Given the description of an element on the screen output the (x, y) to click on. 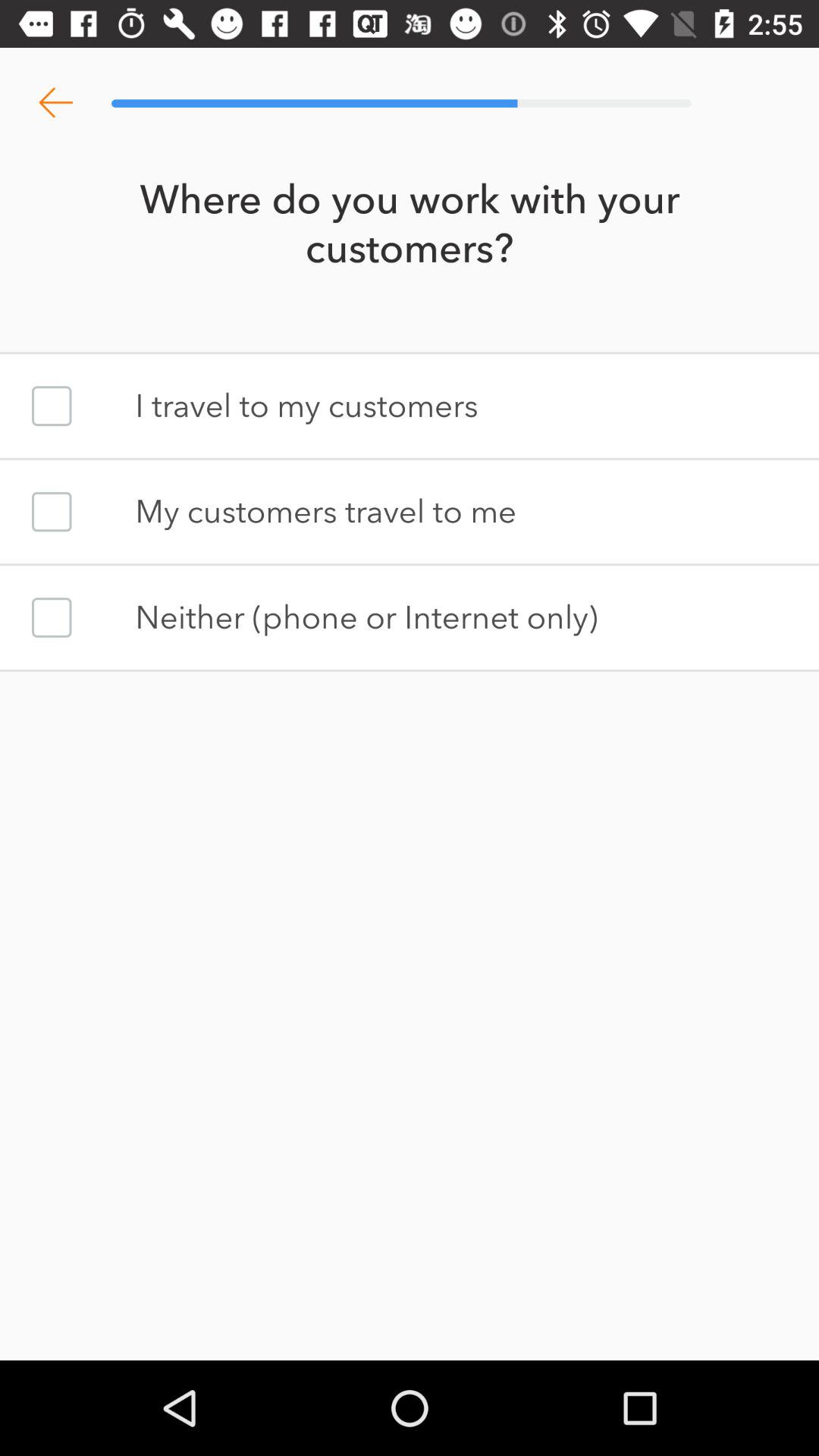
choose neither (51, 617)
